Given the description of an element on the screen output the (x, y) to click on. 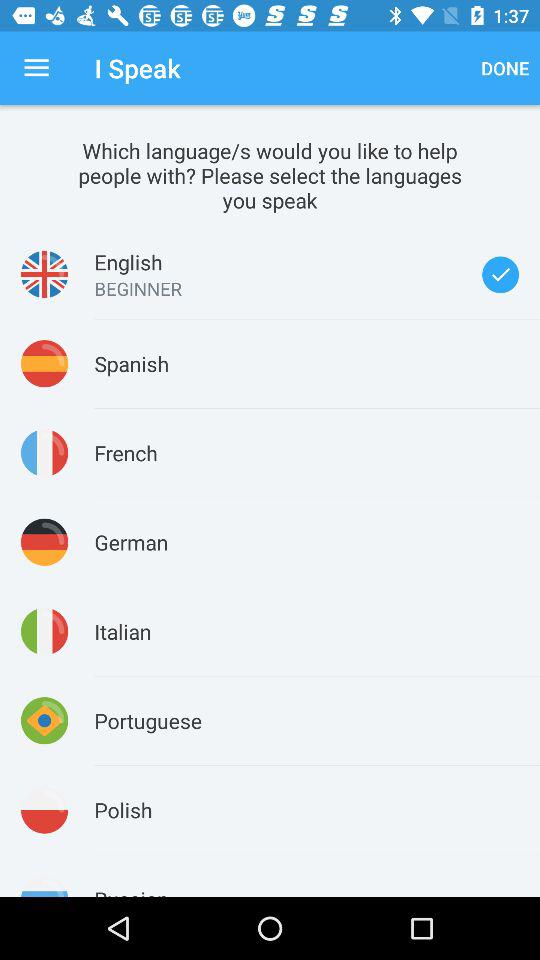
tap the item next to the i speak icon (36, 68)
